Given the description of an element on the screen output the (x, y) to click on. 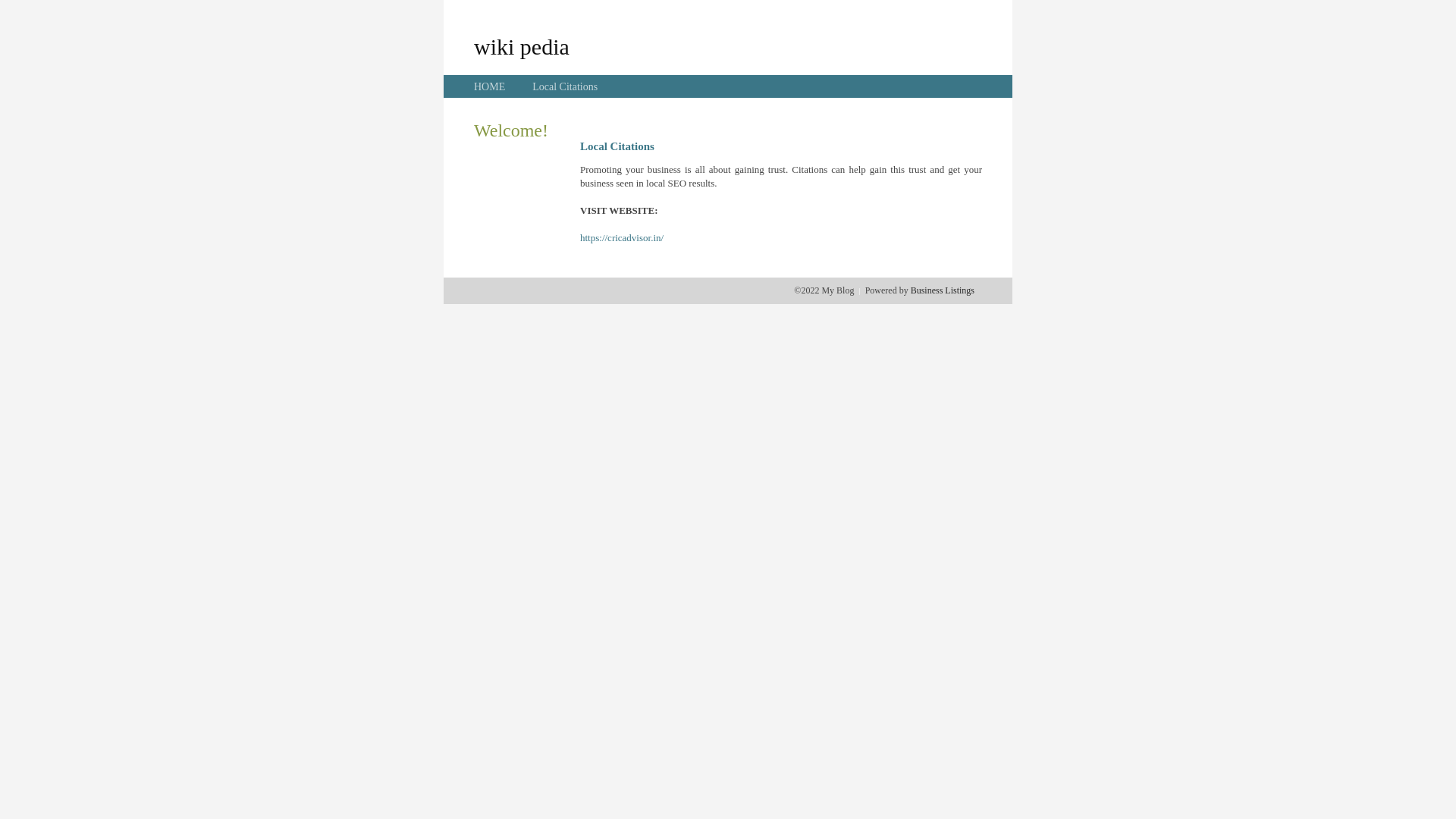
wiki pedia Element type: text (521, 46)
Business Listings Element type: text (942, 290)
Local Citations Element type: text (564, 86)
https://cricadvisor.in/ Element type: text (621, 237)
HOME Element type: text (489, 86)
